Given the description of an element on the screen output the (x, y) to click on. 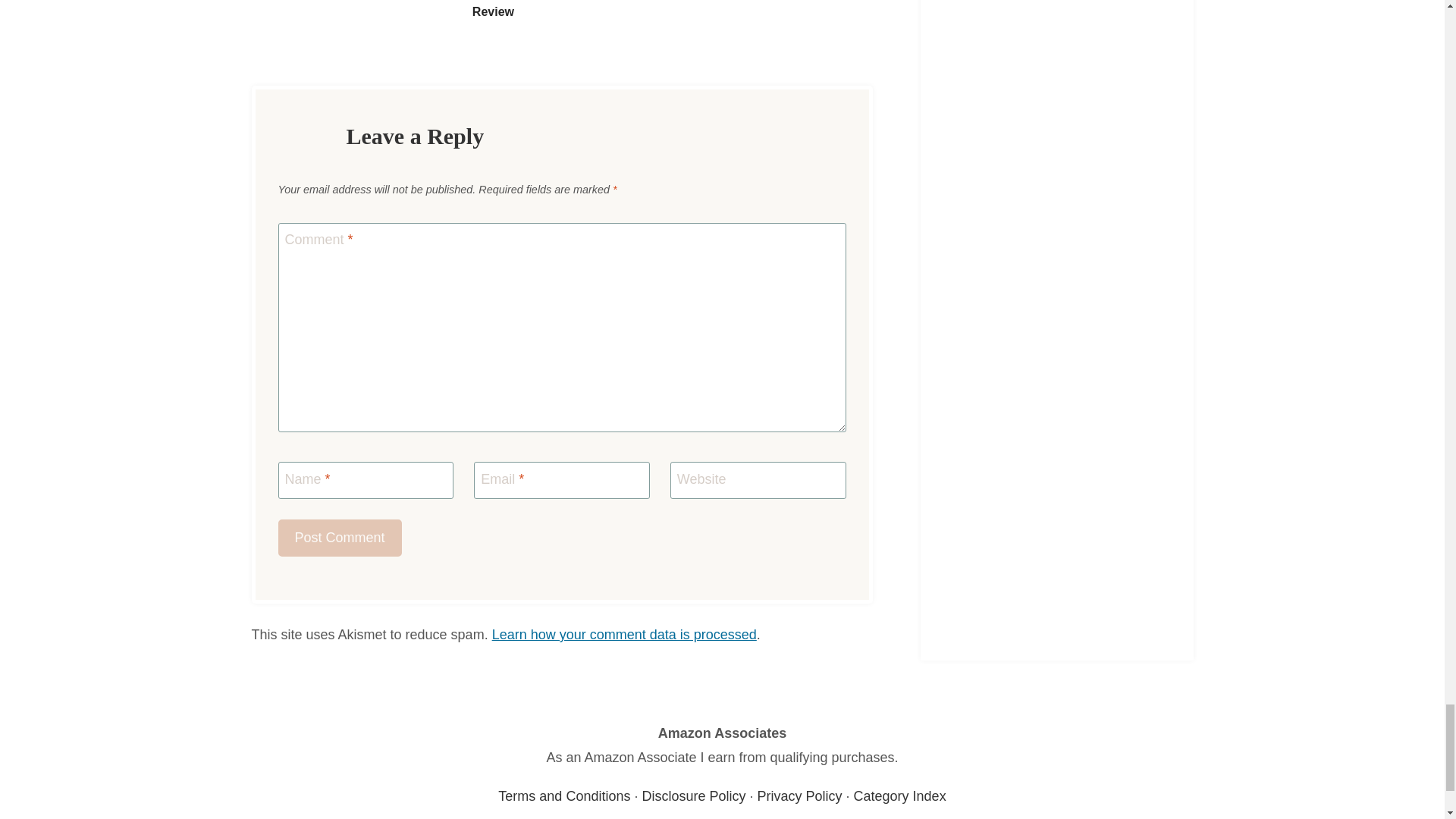
Post Comment (339, 537)
Post Comment (339, 537)
